Given the description of an element on the screen output the (x, y) to click on. 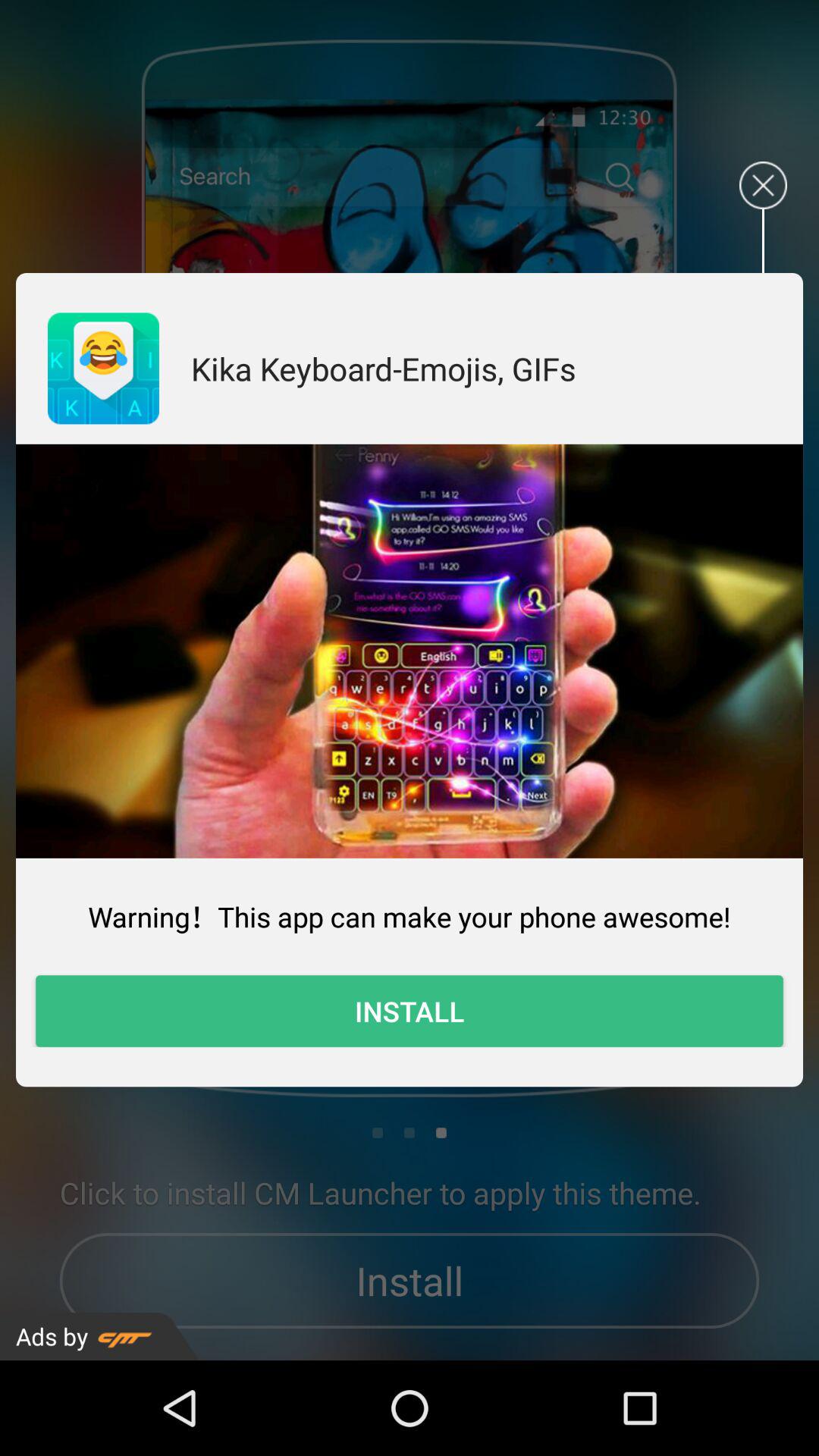
open icon above the warning this app icon (409, 651)
